Given the description of an element on the screen output the (x, y) to click on. 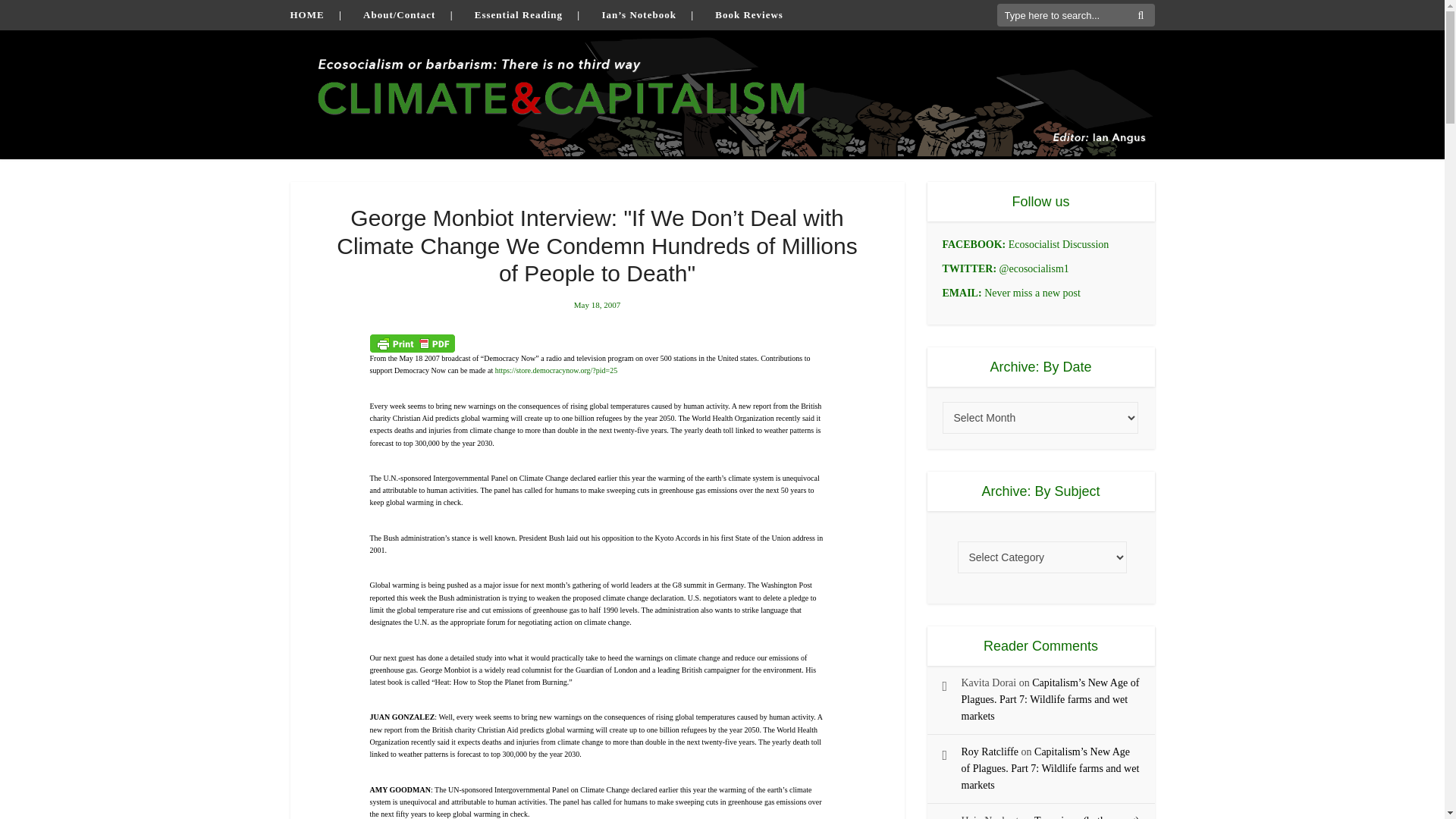
Essential Reading (518, 14)
HOME (306, 14)
Type here to search... (1074, 15)
Book Reviews (748, 14)
Type here to search... (1074, 15)
